Given the description of an element on the screen output the (x, y) to click on. 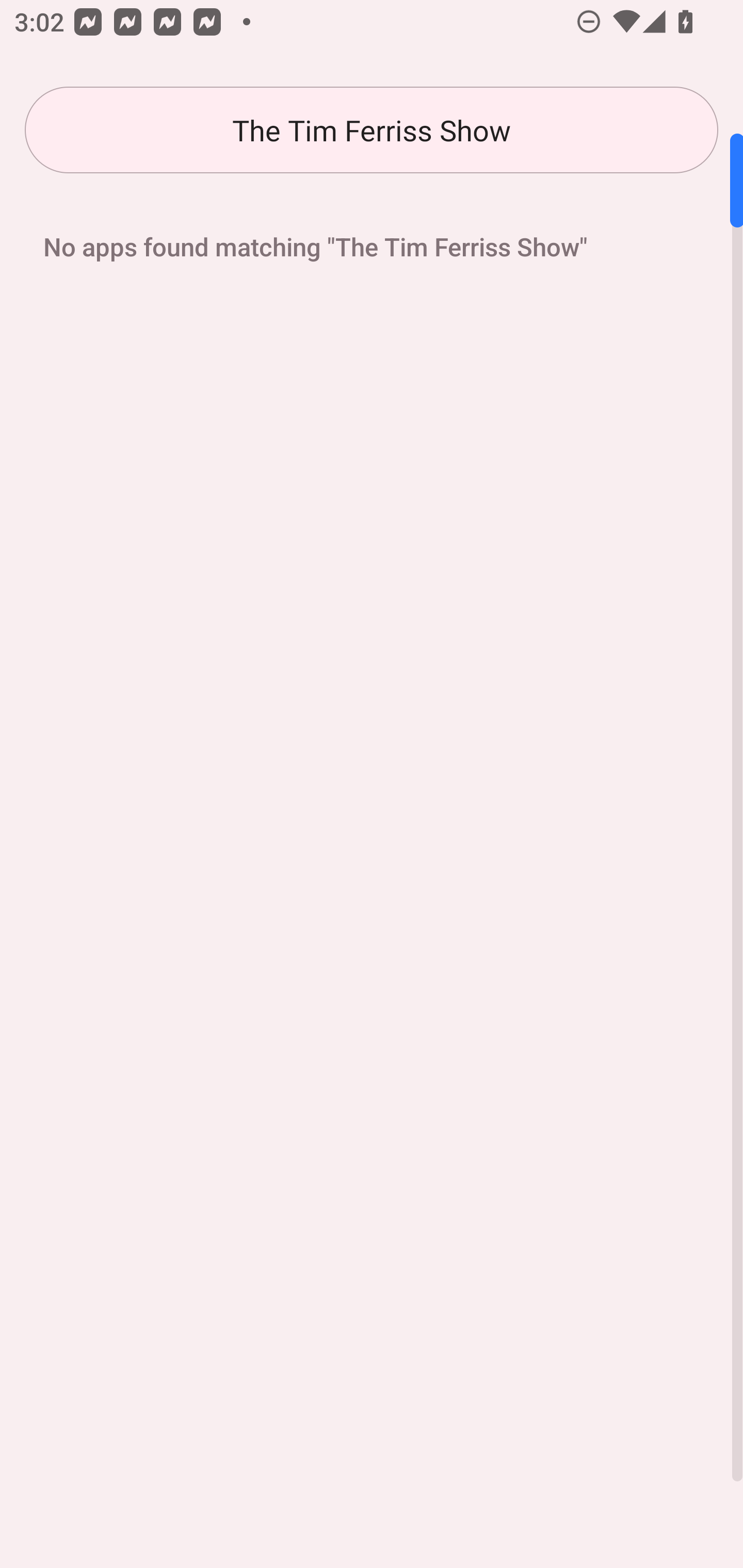
The Tim Ferriss Show (371, 130)
